Given the description of an element on the screen output the (x, y) to click on. 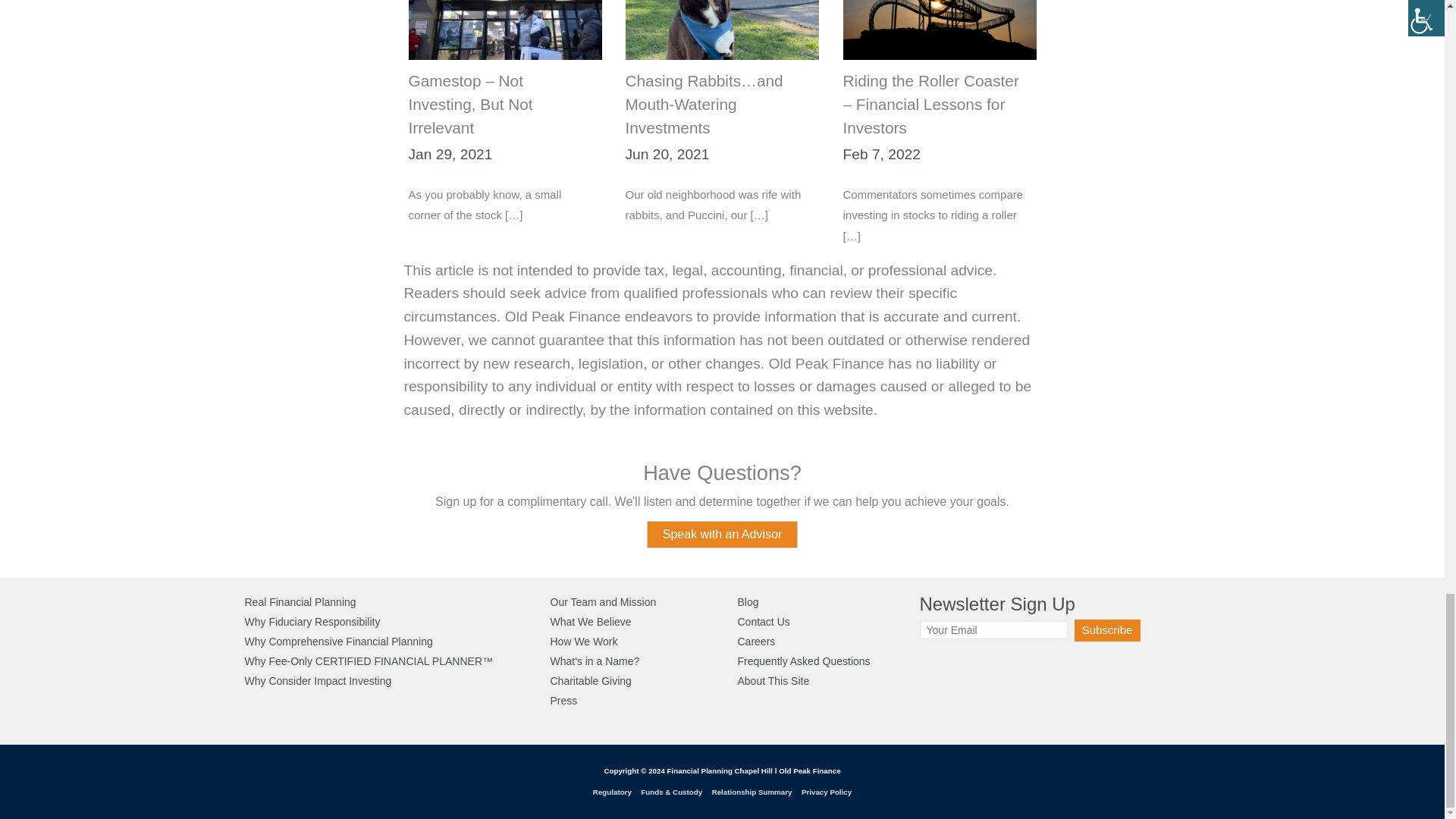
Why Comprehensive Financial Planning (338, 641)
Why Consider Impact Investing (317, 680)
Speak with an Advisor (721, 533)
Our Team and Mission (603, 602)
Real Financial Planning (299, 602)
Why Fiduciary Responsibility (312, 621)
